Given the description of an element on the screen output the (x, y) to click on. 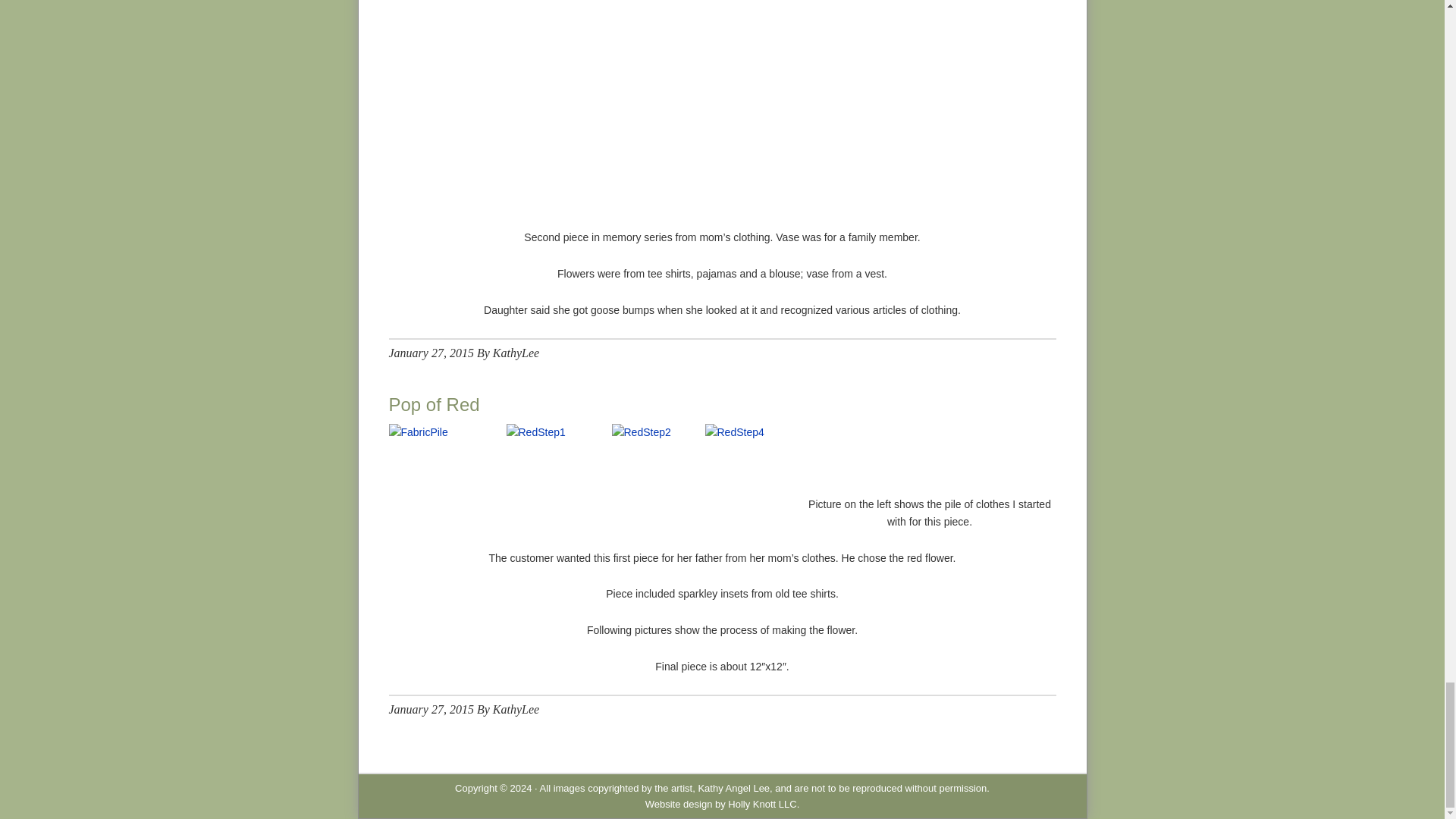
Pop of Red (433, 403)
Holly Knott LLC (762, 803)
